Given the description of an element on the screen output the (x, y) to click on. 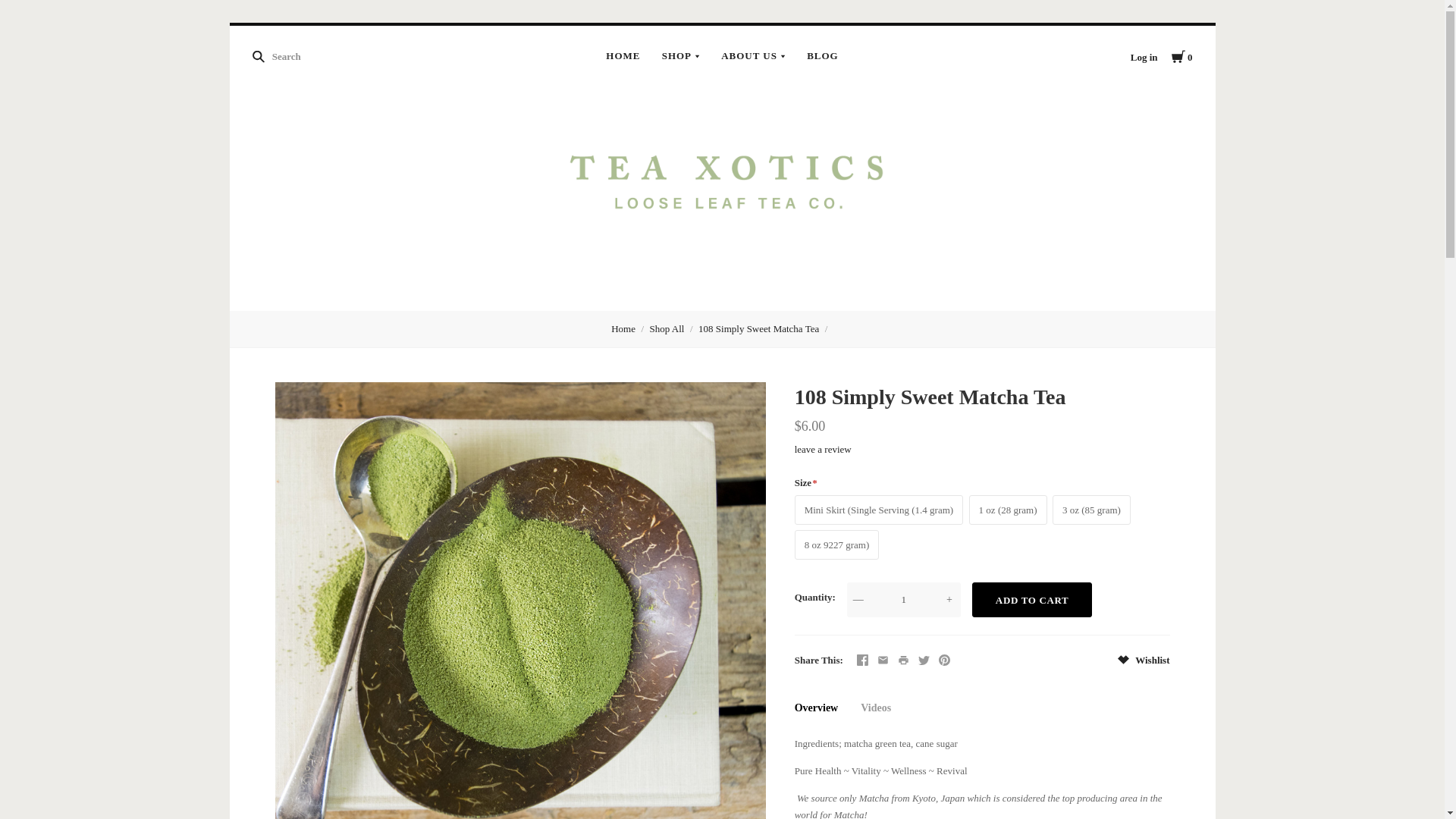
Add To Cart (1032, 599)
1 (903, 599)
HOME (622, 56)
SHOP (680, 56)
